Given the description of an element on the screen output the (x, y) to click on. 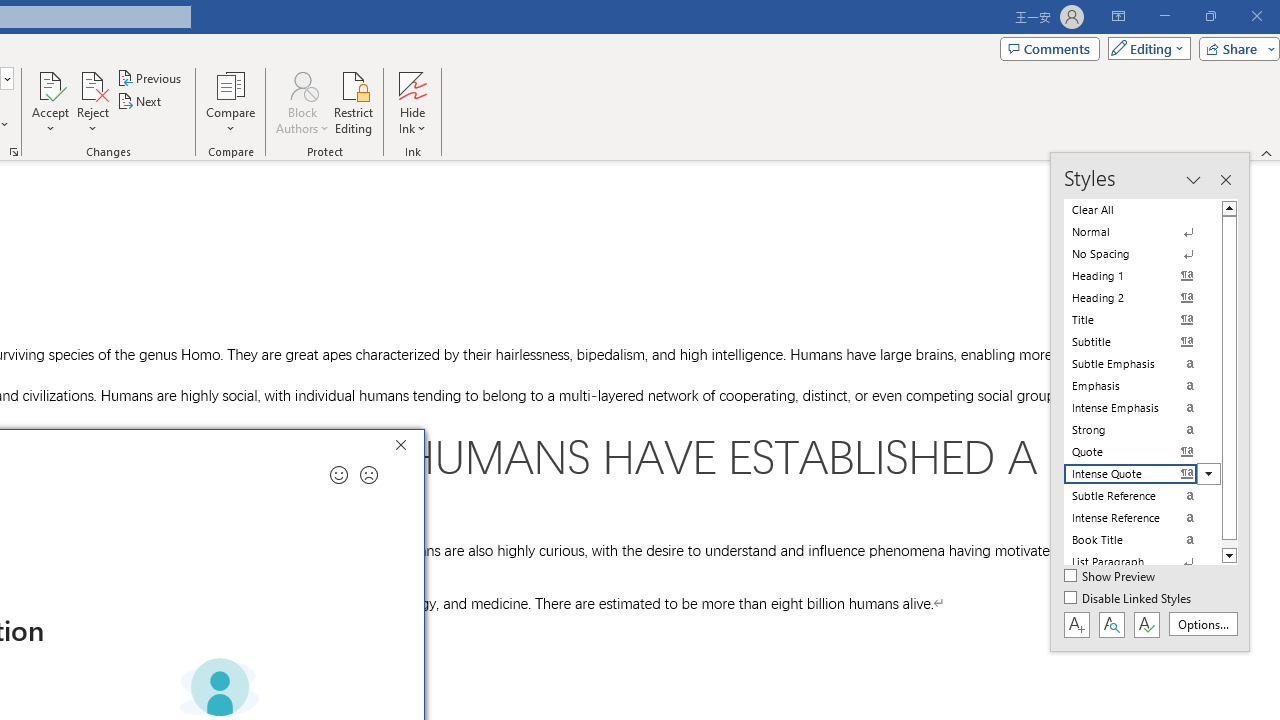
Block Authors (302, 102)
Previous (150, 78)
Change Tracking Options... (13, 151)
Restrict Editing (353, 102)
Class: NetUIButton (1146, 624)
Hide Ink (412, 102)
